Given the description of an element on the screen output the (x, y) to click on. 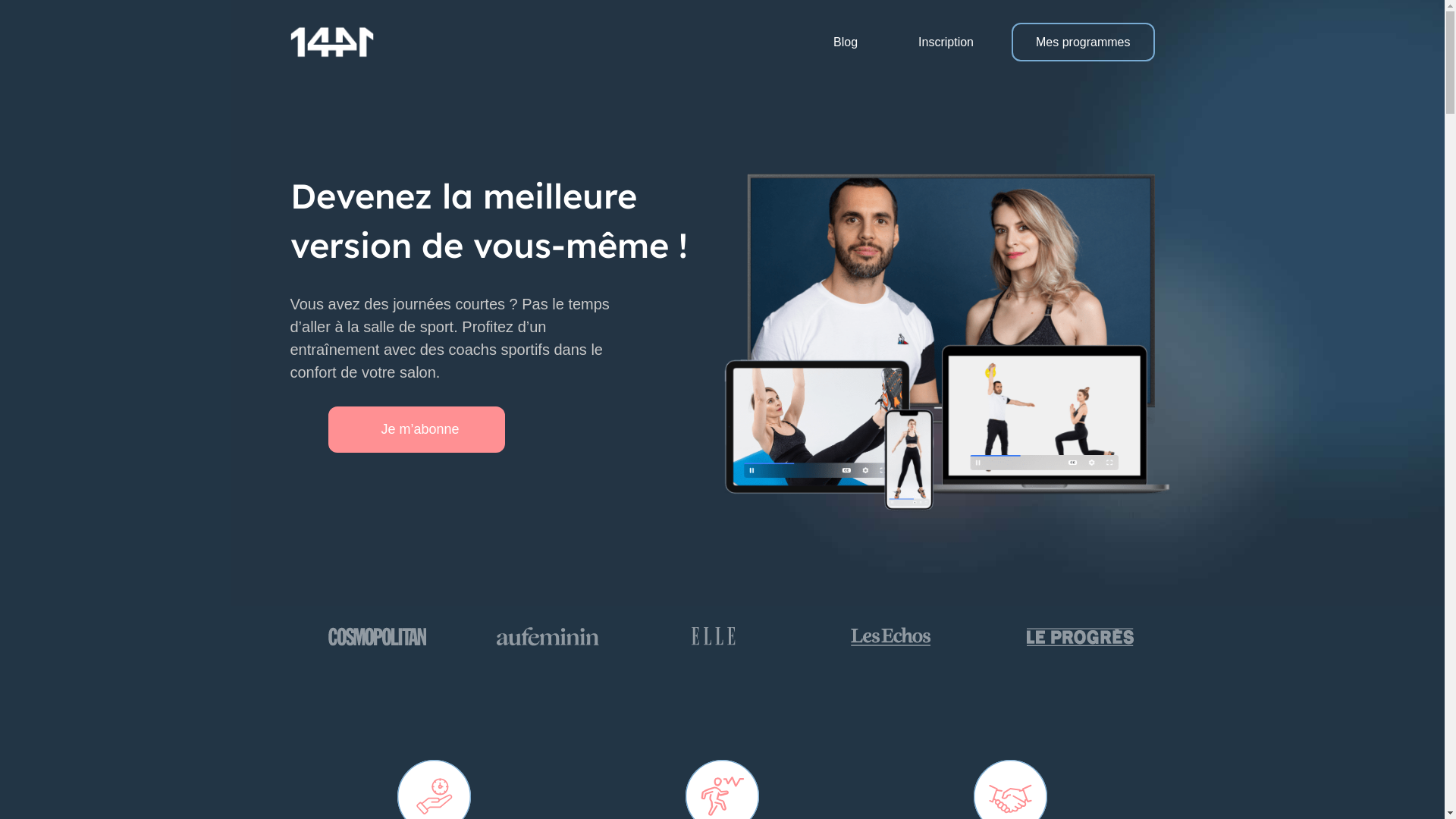
Mes programmes Element type: text (1082, 41)
Inscription Element type: text (953, 41)
Blog Element type: text (852, 41)
